Given the description of an element on the screen output the (x, y) to click on. 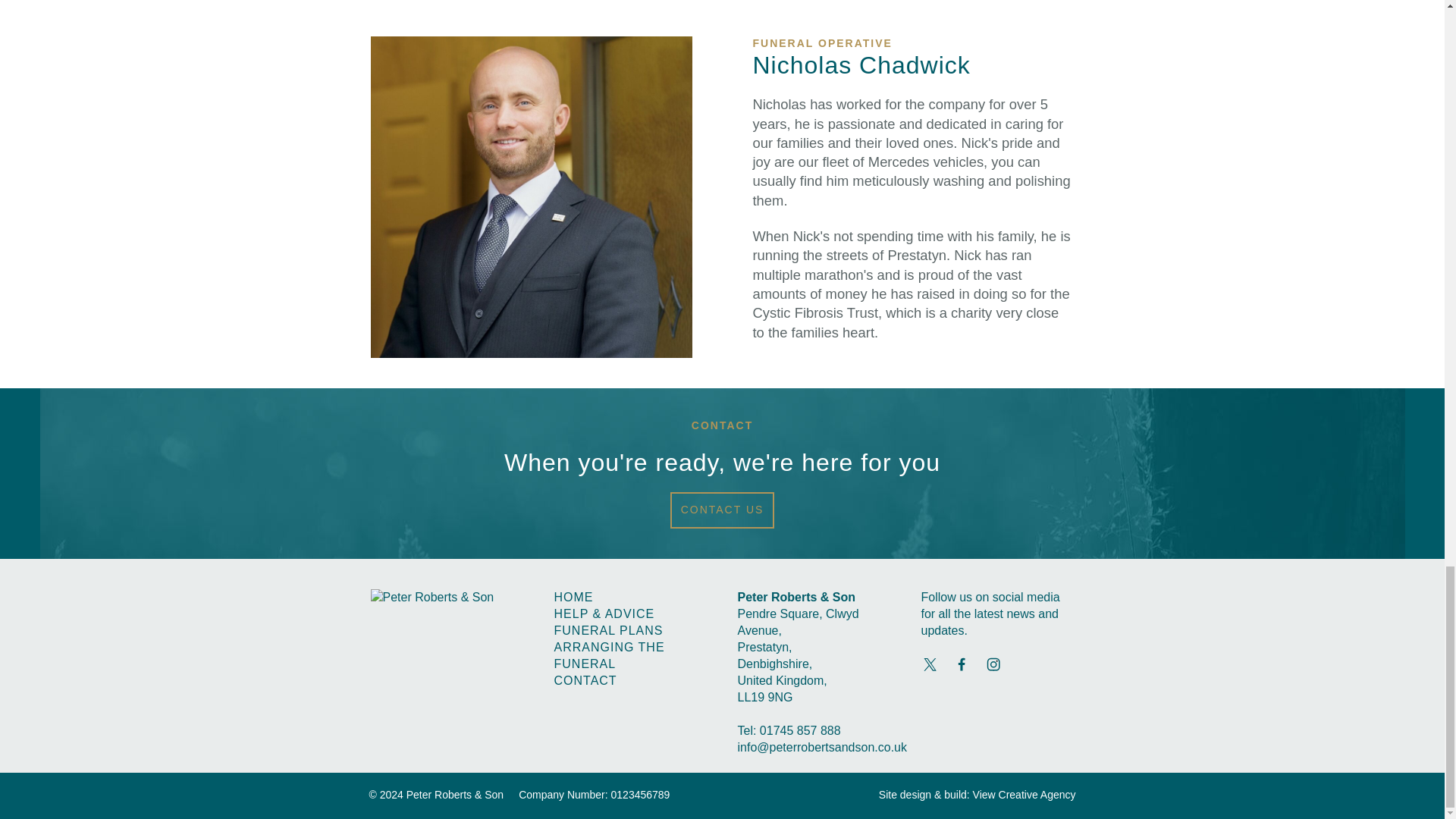
View Creative Agency (1023, 793)
CONTACT US (721, 509)
FUNERAL PLANS (607, 630)
ARRANGING THE FUNERAL (608, 655)
CONTACT (584, 680)
HOME (572, 596)
